Given the description of an element on the screen output the (x, y) to click on. 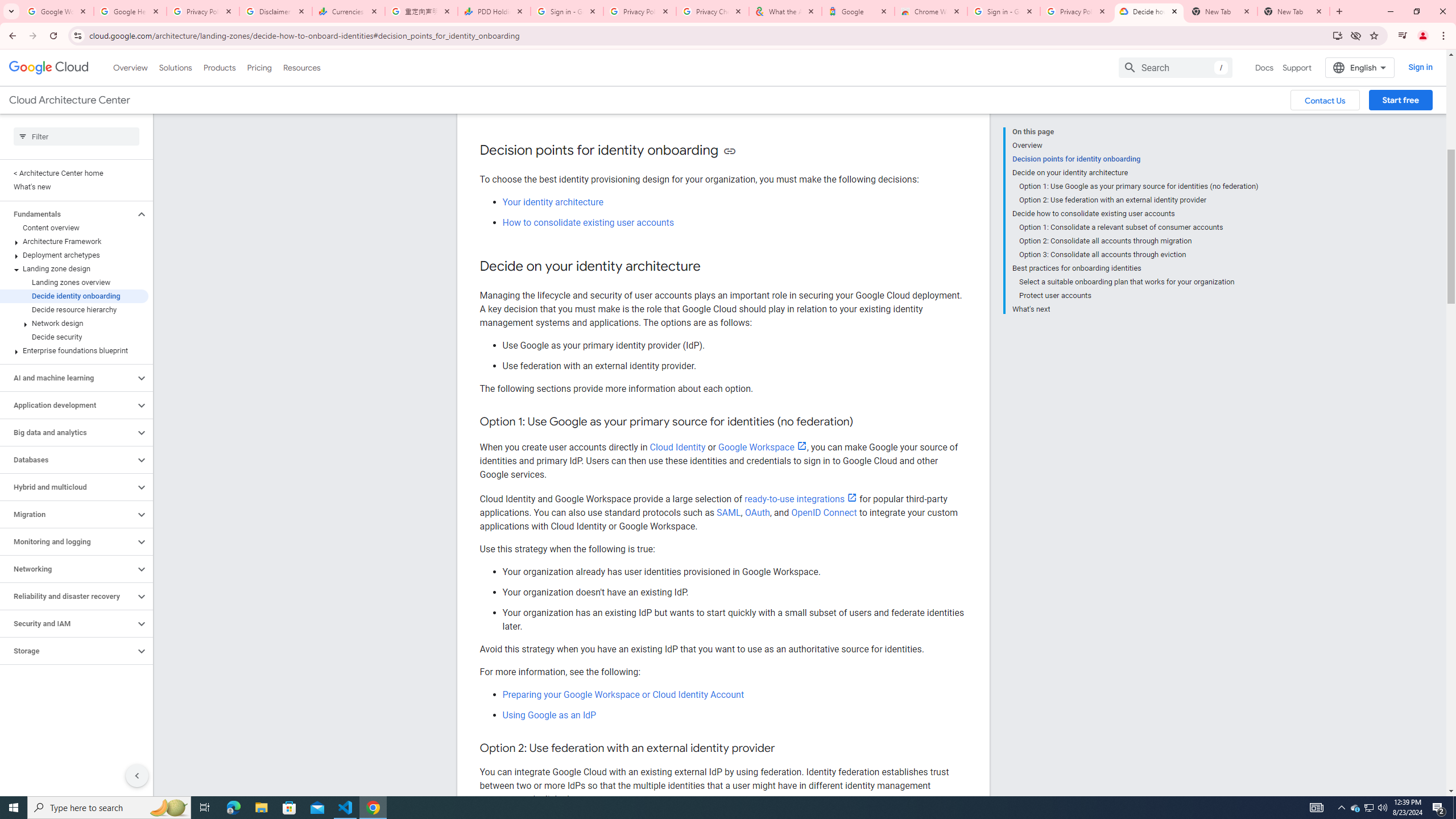
Best practices for onboarding identities (1134, 268)
Contact Us (1324, 100)
Option 3: Consolidate all accounts through eviction (1138, 254)
Start free (1400, 100)
Reliability and disaster recovery (67, 596)
Decide how to consolidate existing user accounts (1134, 213)
Google Workspace (761, 447)
Fundamentals (67, 214)
Install Google Cloud (1336, 35)
< Architecture Center home (74, 173)
Pricing (259, 67)
Control your music, videos, and more (1402, 35)
Google Cloud (48, 67)
